Given the description of an element on the screen output the (x, y) to click on. 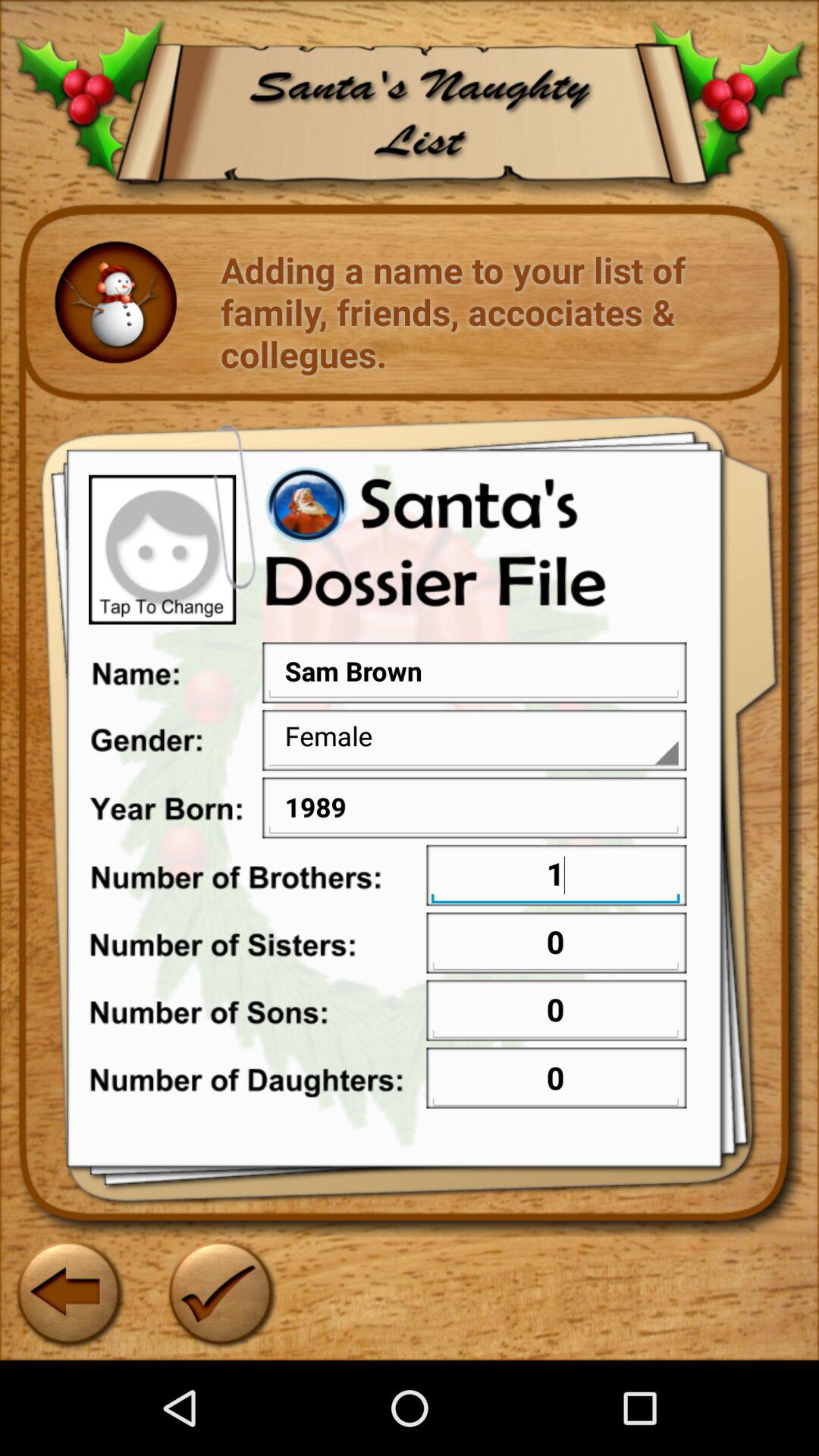
confirm ok (219, 1291)
